Given the description of an element on the screen output the (x, y) to click on. 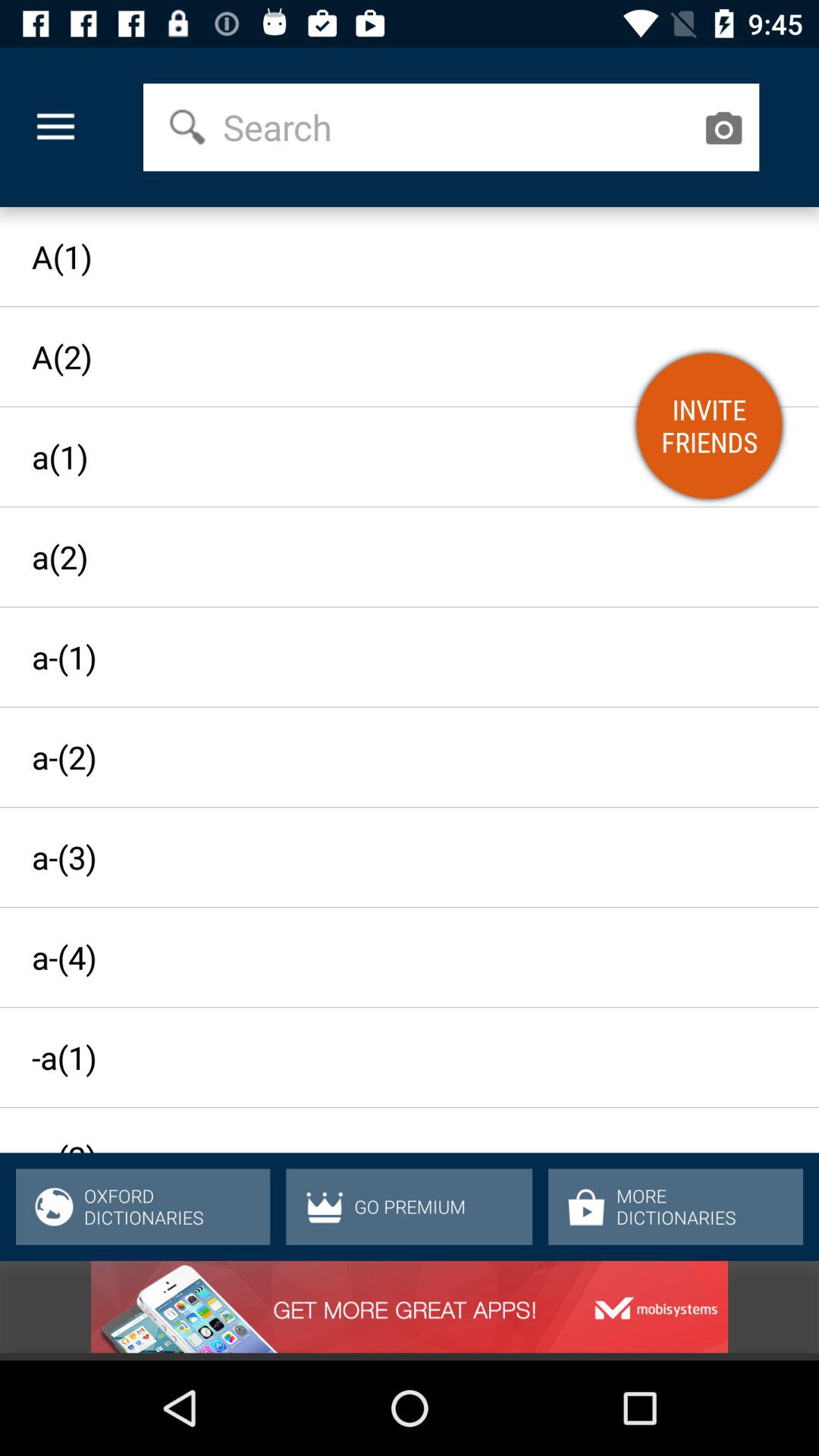
turn on item above the -a(1) icon (395, 957)
